Given the description of an element on the screen output the (x, y) to click on. 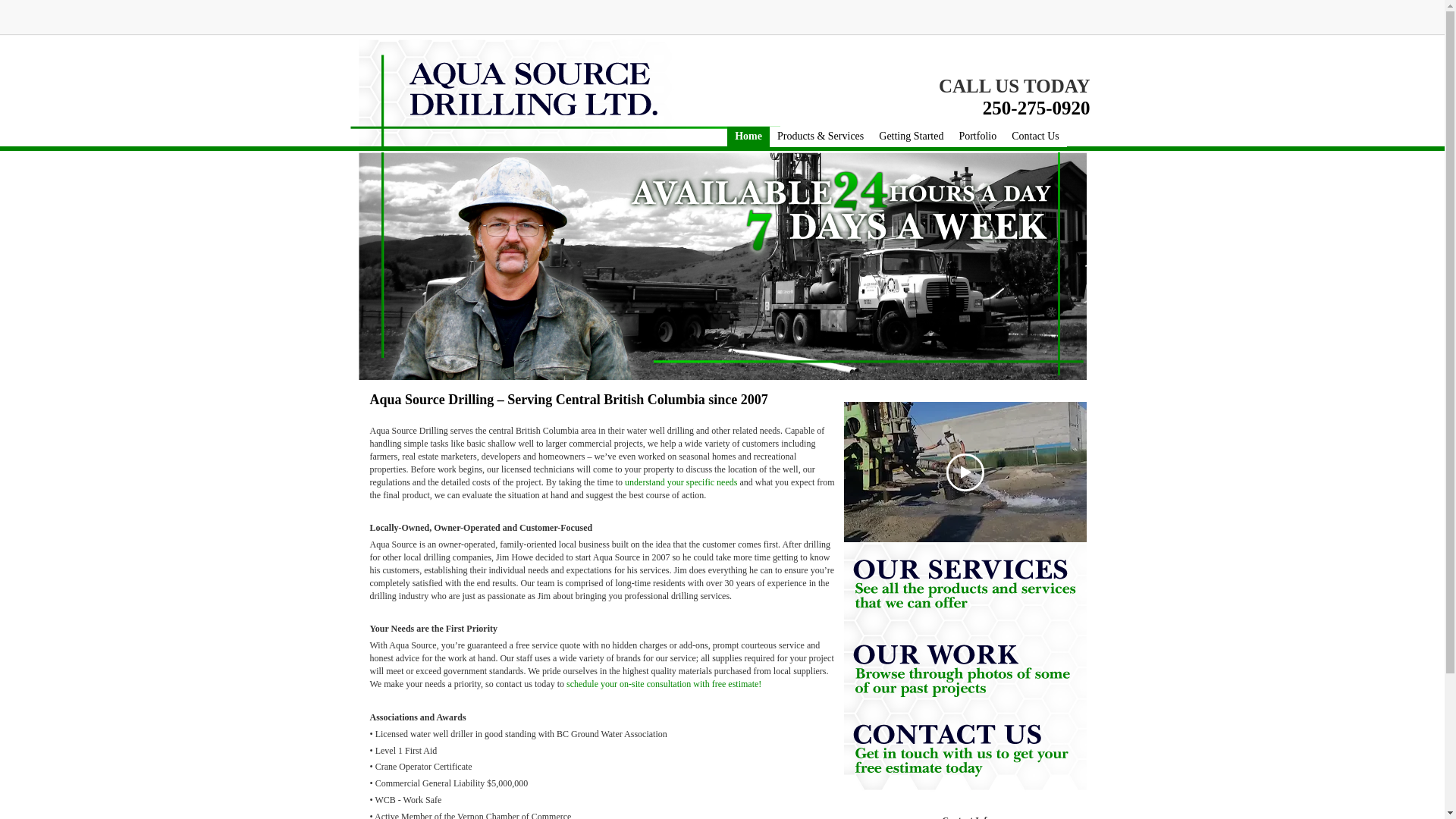
Embedded Content (1063, 23)
Embedded Content (979, 20)
schedule your on-site consultation with free estimate! (663, 684)
understand your specific needs (680, 482)
250-275-0920 (1036, 111)
Contact Us (1035, 136)
Getting Started (910, 136)
Home (748, 136)
Portfolio (977, 136)
